Given the description of an element on the screen output the (x, y) to click on. 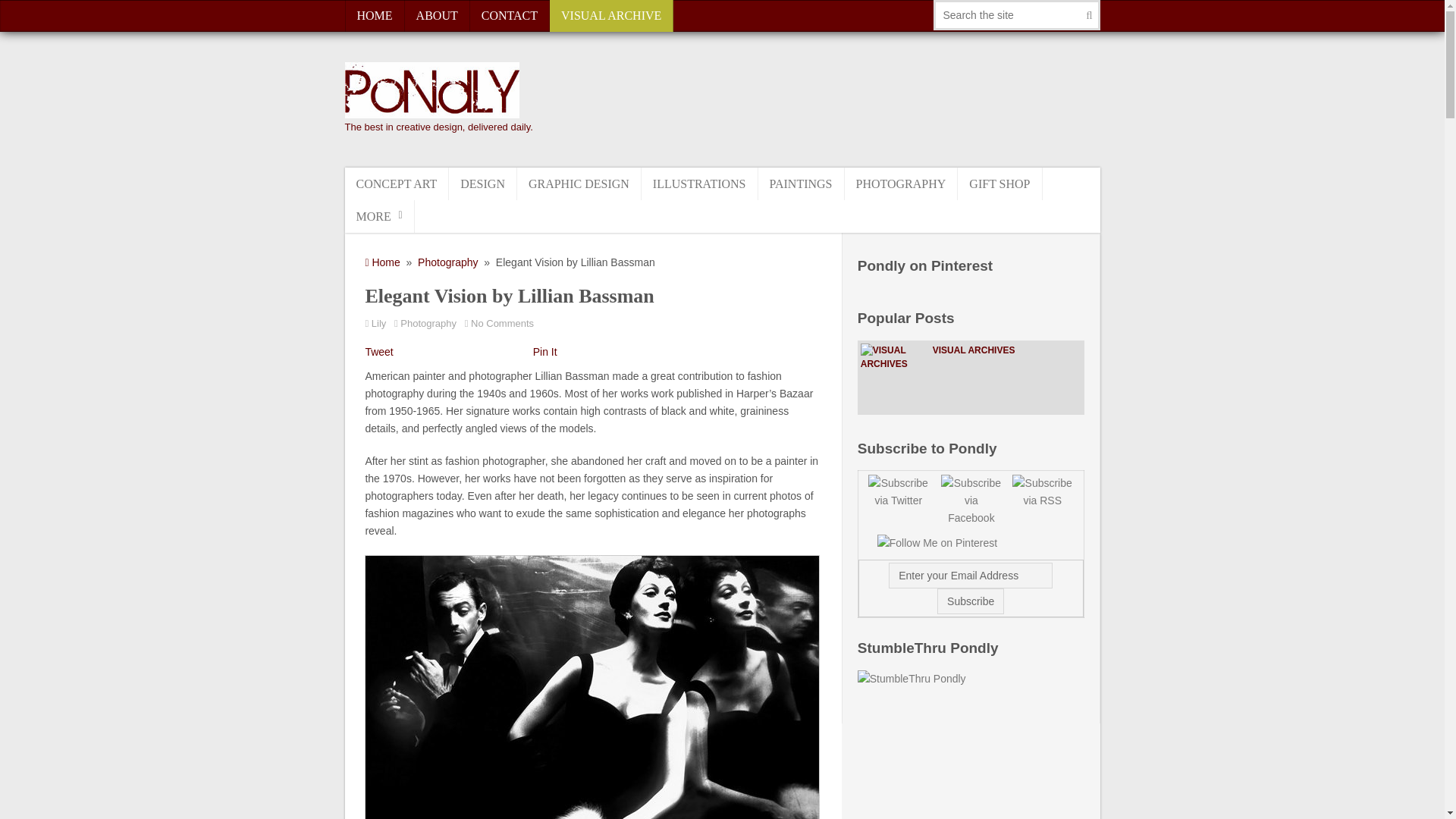
 Home (381, 262)
DESIGN (482, 183)
Subscribe via Twitter (893, 491)
Photography (447, 262)
ABOUT (437, 15)
GIFT SHOP (1000, 183)
Subscribe via Facebook (970, 500)
VISUAL ARCHIVE (611, 15)
GRAPHIC DESIGN (579, 183)
PAINTINGS (801, 183)
Subscribe (970, 601)
PHOTOGRAPHY (901, 183)
Enter your Email Address (970, 575)
HOME (373, 15)
Subscribe via RSS (1042, 491)
